Given the description of an element on the screen output the (x, y) to click on. 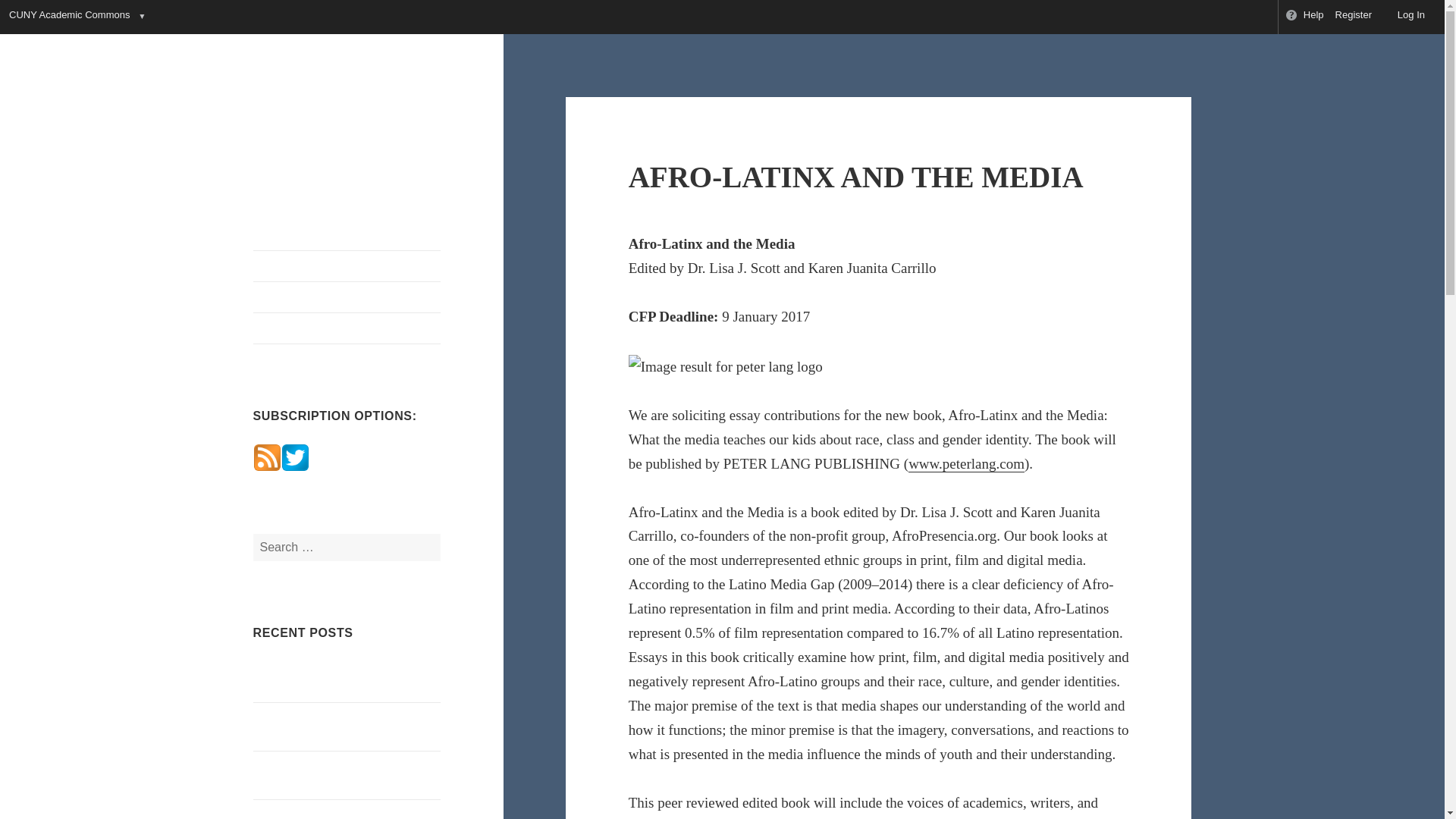
CUNY Academic Commons (68, 17)
CFP: 42nd Annual Conference on West Indian Literature (335, 775)
Austin Clarke, Black Studies and Black Diasporic Memory (333, 726)
Subscribe via RSS (267, 455)
Categories (347, 327)
Subscribe via Twitter (294, 455)
Seminar Archive (347, 296)
About (347, 265)
